Given the description of an element on the screen output the (x, y) to click on. 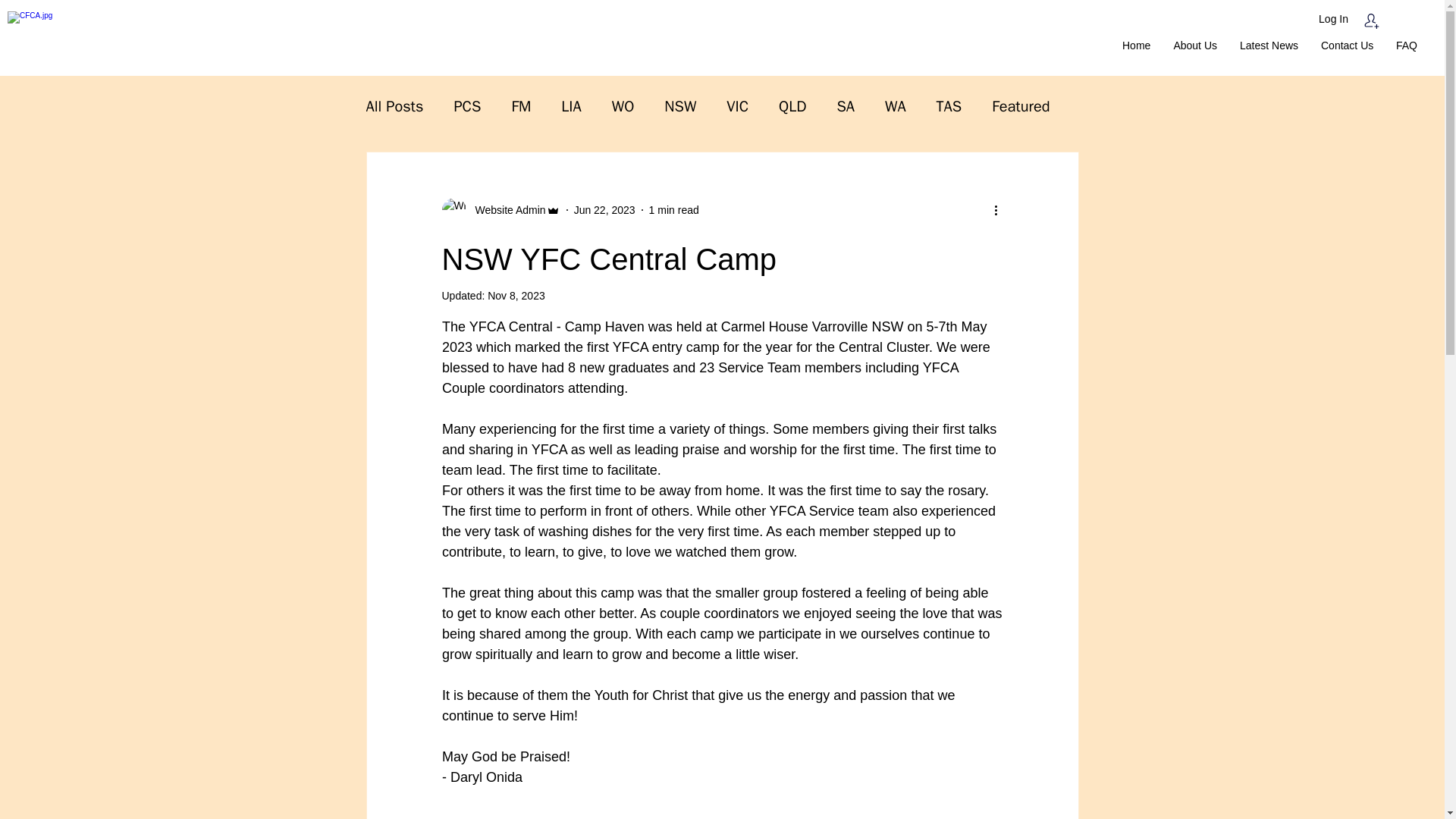
Nov 8, 2023 (515, 295)
QLD (792, 105)
LIA (570, 105)
Log In (1332, 18)
WO (622, 105)
Website Admin (500, 209)
FM (521, 105)
Website Admin (504, 209)
Featured (1020, 105)
VIC (737, 105)
